Given the description of an element on the screen output the (x, y) to click on. 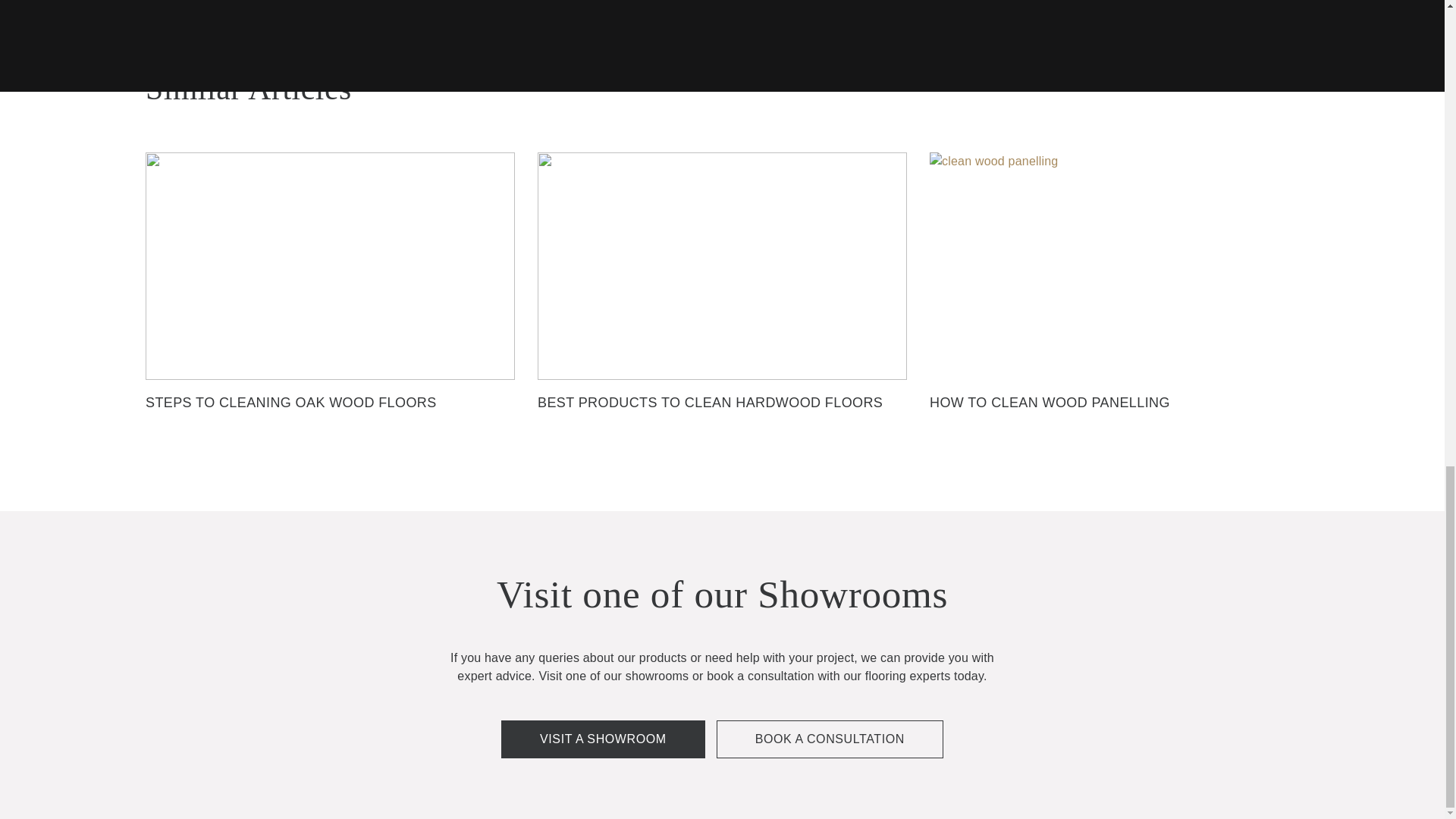
BOOK A CONSULTATION (829, 739)
BEST PRODUCTS TO CLEAN HARDWOOD FLOORS (722, 301)
HOW TO CLEAN WOOD PANELLING (1114, 301)
STEPS TO CLEANING OAK WOOD FLOORS (330, 301)
VISIT A SHOWROOM (602, 739)
